Given the description of an element on the screen output the (x, y) to click on. 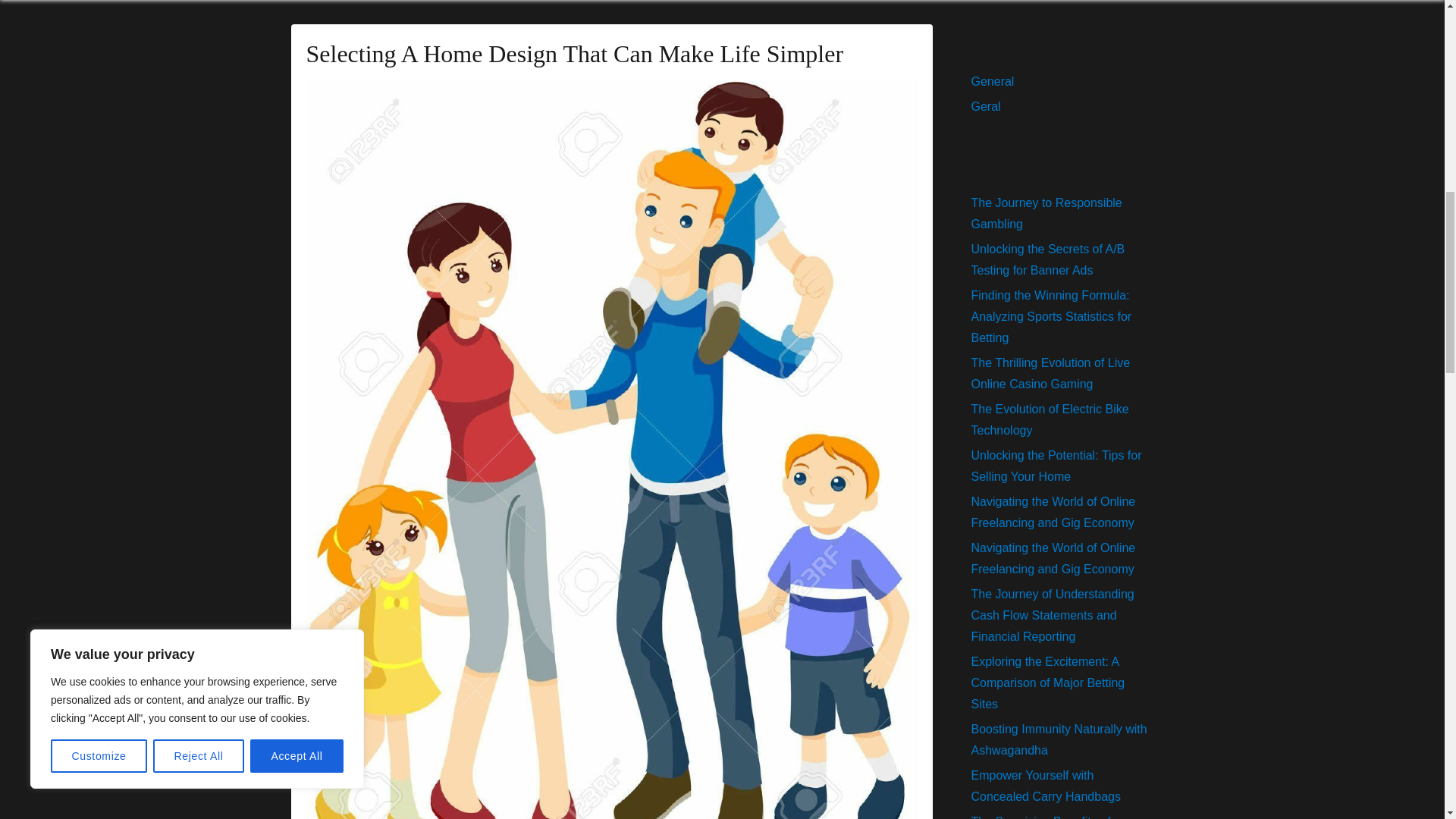
Geral (985, 106)
The Evolution of Electric Bike Technology (1049, 419)
Unlocking the Potential: Tips for Selling Your Home (1056, 465)
The Thrilling Evolution of Live Online Casino Gaming (1050, 373)
The Journey to Responsible Gambling (1046, 213)
General (992, 81)
